Given the description of an element on the screen output the (x, y) to click on. 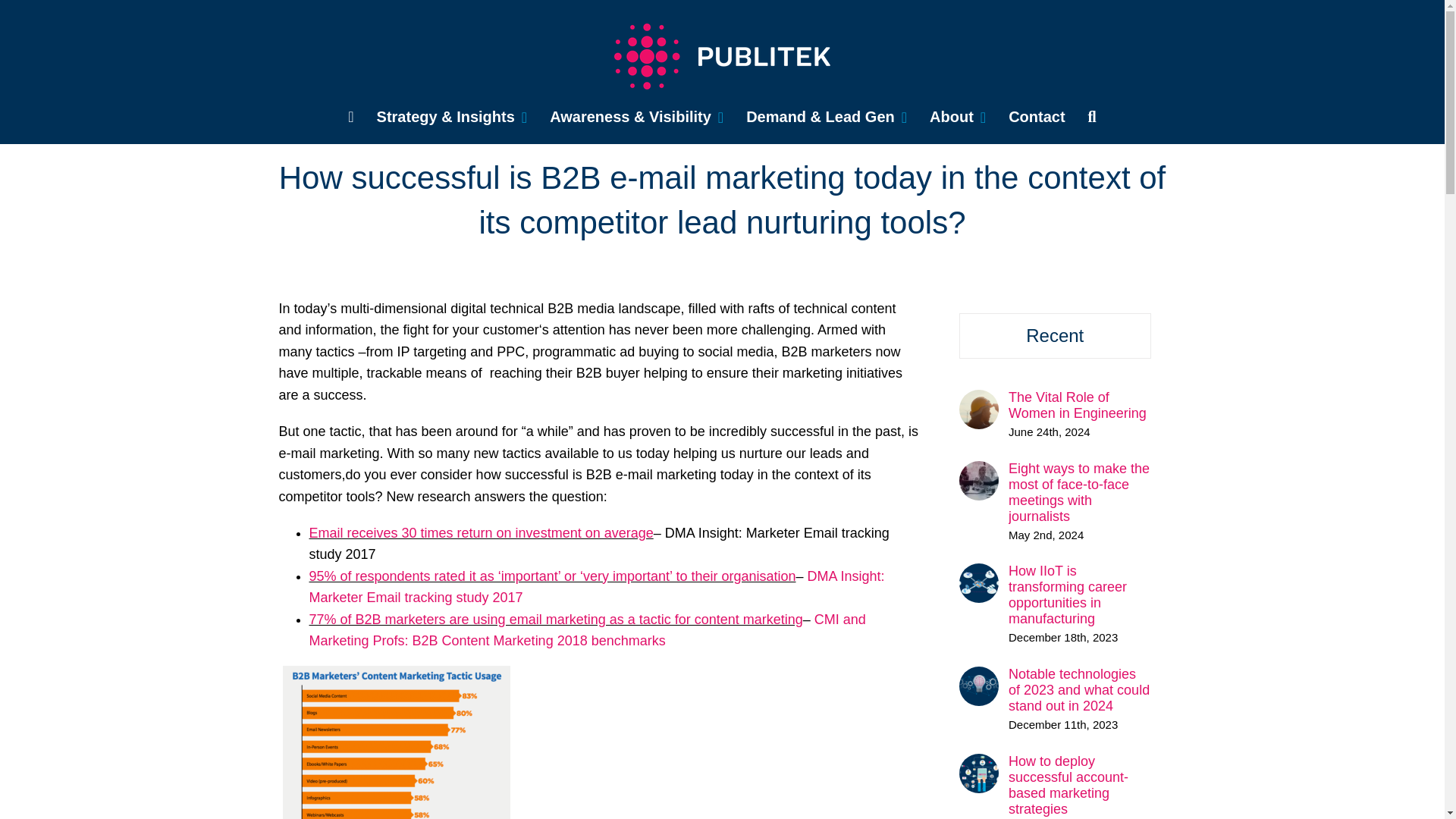
Contact (1036, 116)
About (957, 116)
